Given the description of an element on the screen output the (x, y) to click on. 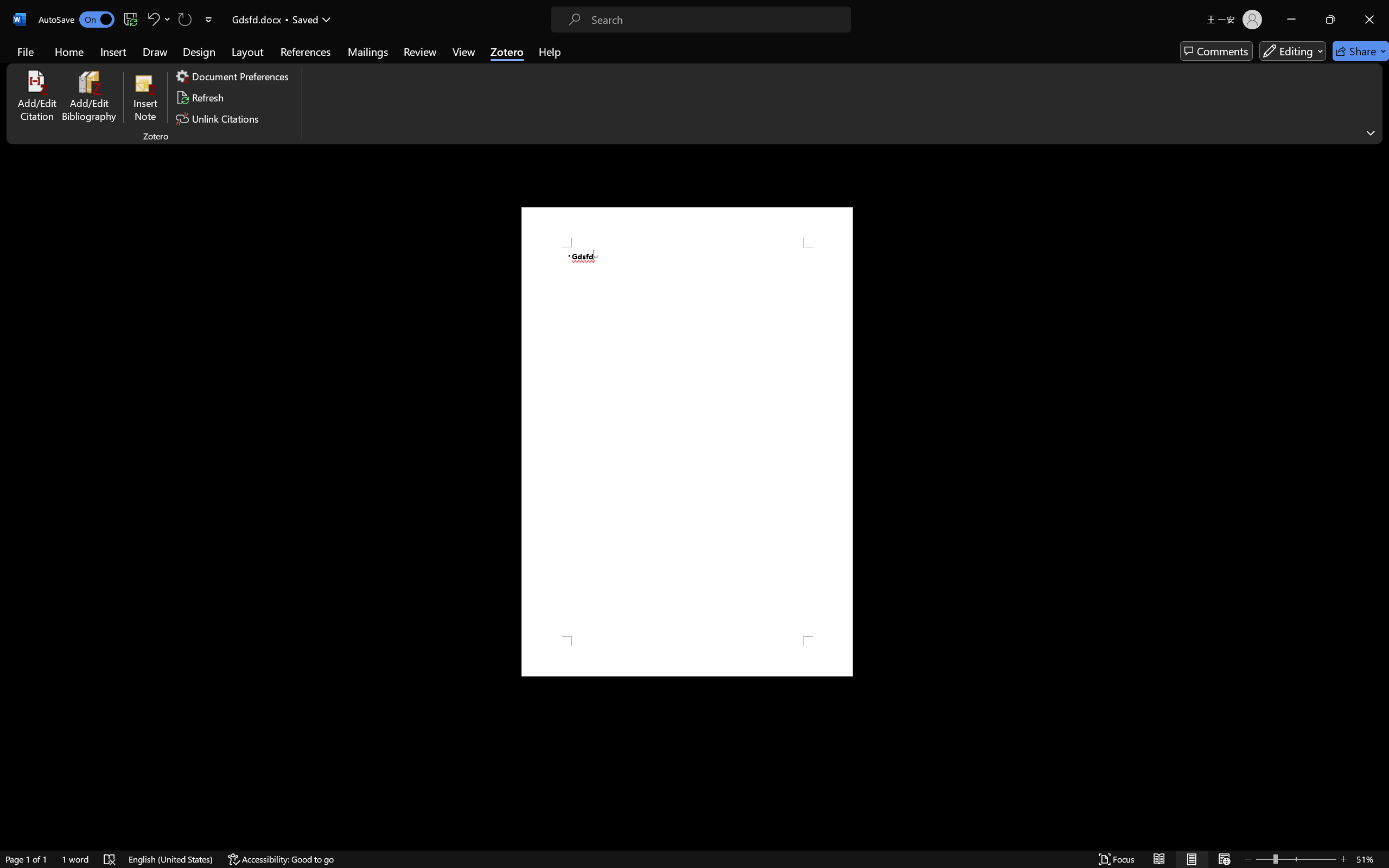
Page 1 content (686, 441)
